Given the description of an element on the screen output the (x, y) to click on. 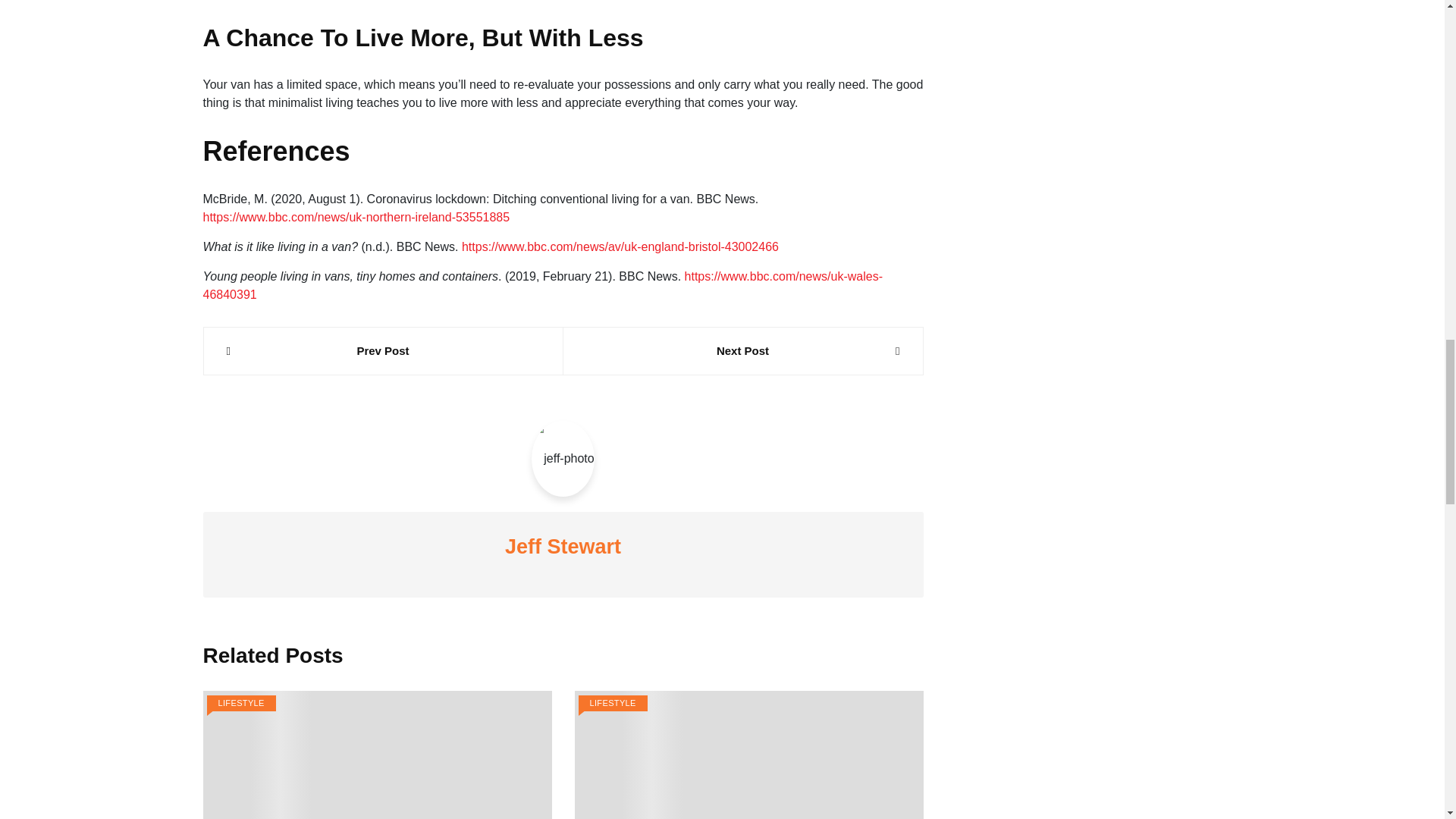
Next Post (742, 351)
LIFESTYLE (612, 703)
LIFESTYLE (240, 703)
Prev Post (381, 351)
